Given the description of an element on the screen output the (x, y) to click on. 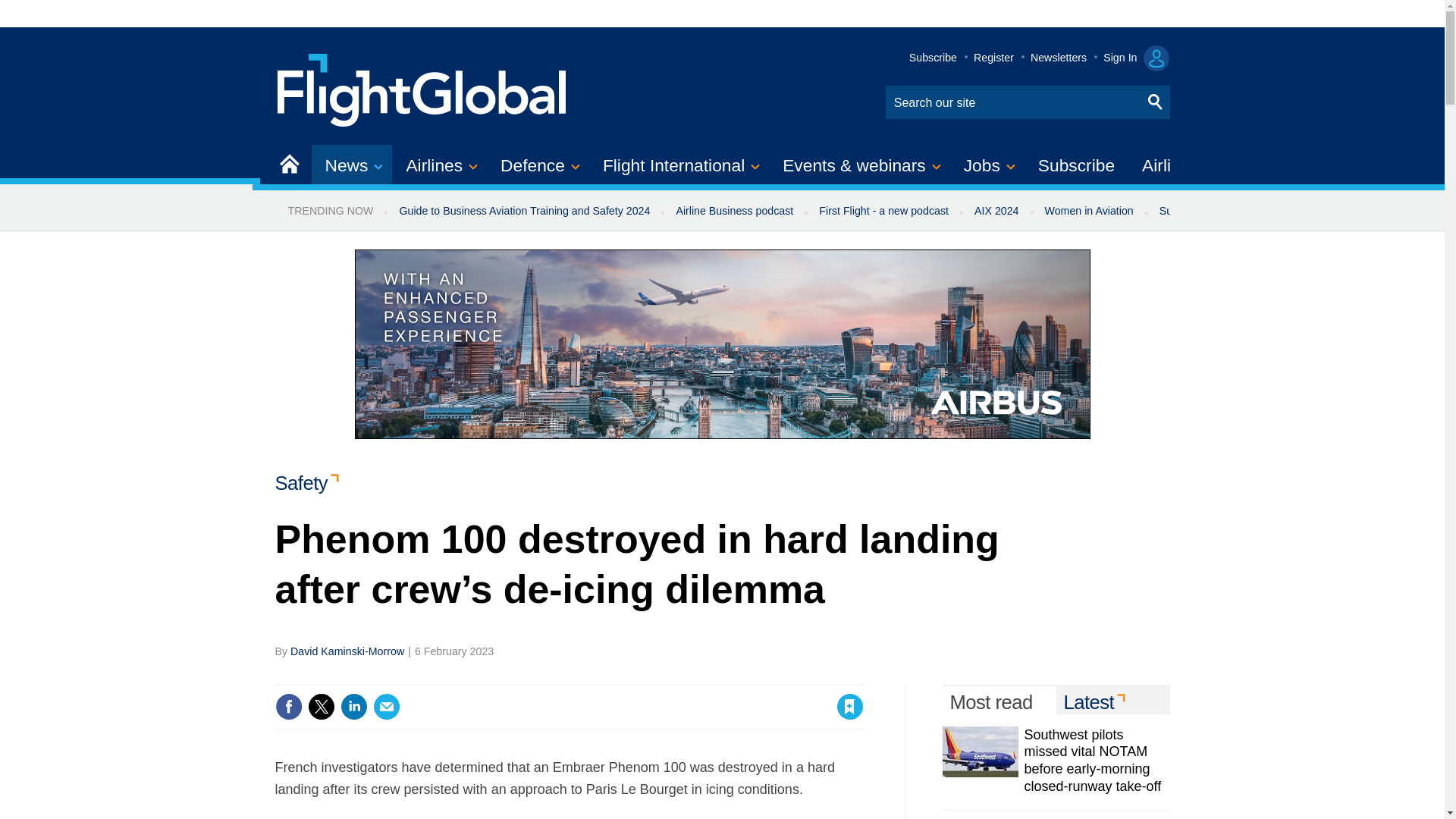
Sustainable Aviation newsletter (1234, 210)
Share this on Twitter (320, 706)
Guide to Business Aviation Training and Safety 2024 (523, 210)
Share this on Linked in (352, 706)
First Flight - a new podcast (883, 210)
Site name (422, 88)
Email this article (386, 706)
Women in Aviation (1089, 210)
Airline Business podcast (734, 210)
Share this on Facebook (288, 706)
AIX 2024 (996, 210)
